Given the description of an element on the screen output the (x, y) to click on. 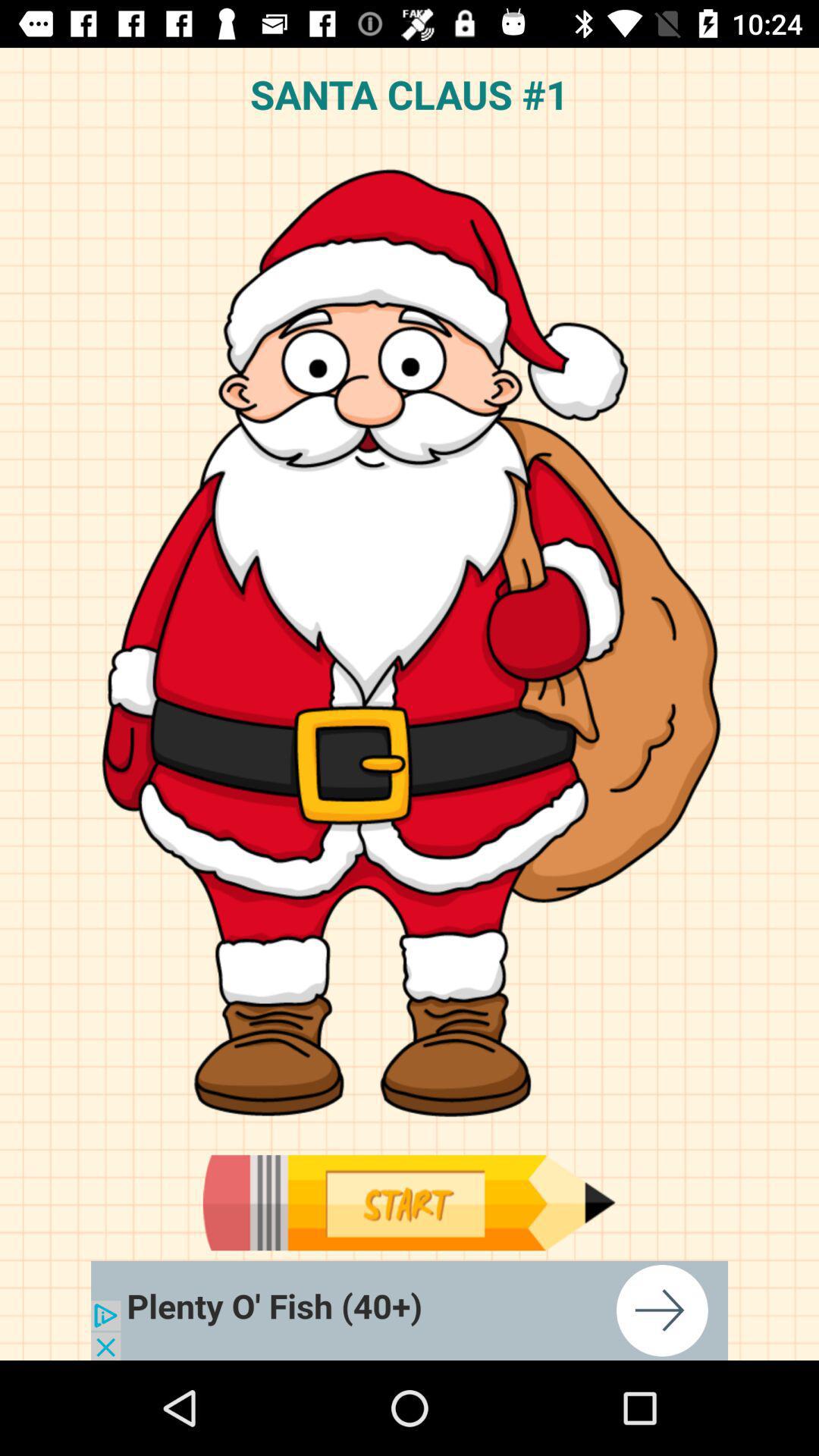
how to draw christmas (409, 1310)
